Given the description of an element on the screen output the (x, y) to click on. 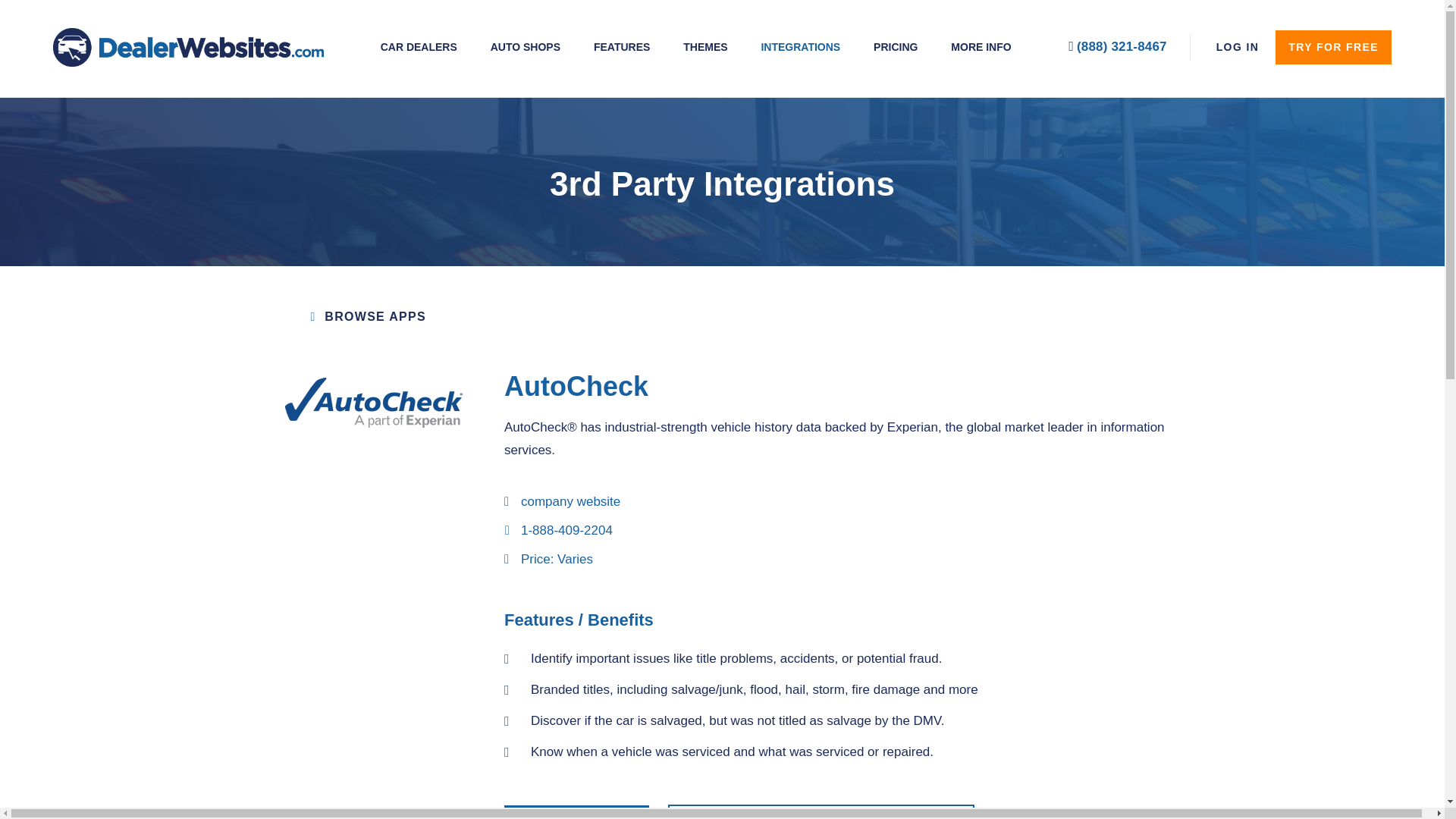
1-888-409-2204 (557, 530)
TRY FOR FREE (1333, 47)
LOG IN (1237, 46)
PRICING (895, 46)
MORE INFO (980, 46)
INTEGRATIONS (800, 46)
CAR DEALERS (418, 46)
LEARN HOW TO ENABLE THIS INTEGRATION (821, 811)
FEATURES (621, 46)
DealerWebsites.com (187, 46)
